Given the description of an element on the screen output the (x, y) to click on. 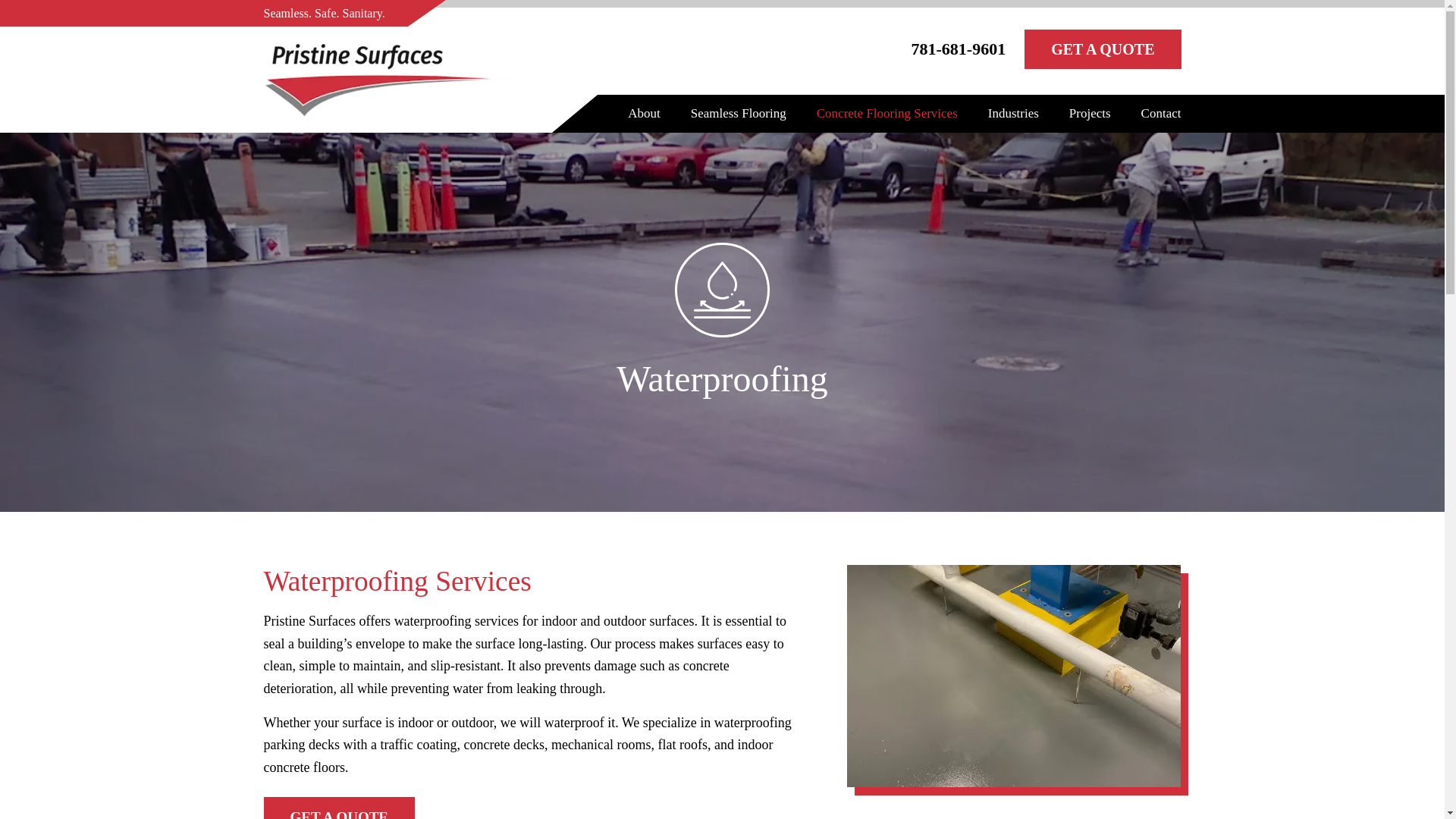
waterproof (722, 289)
Concrete Flooring Services (887, 113)
Projects (1089, 113)
Contact (1160, 113)
781-681-9601 (958, 51)
Seamless Flooring (738, 113)
Photo for Waterproofing Page (1013, 676)
GET A QUOTE (338, 807)
Industries (1013, 113)
GET A QUOTE (1102, 48)
